Given the description of an element on the screen output the (x, y) to click on. 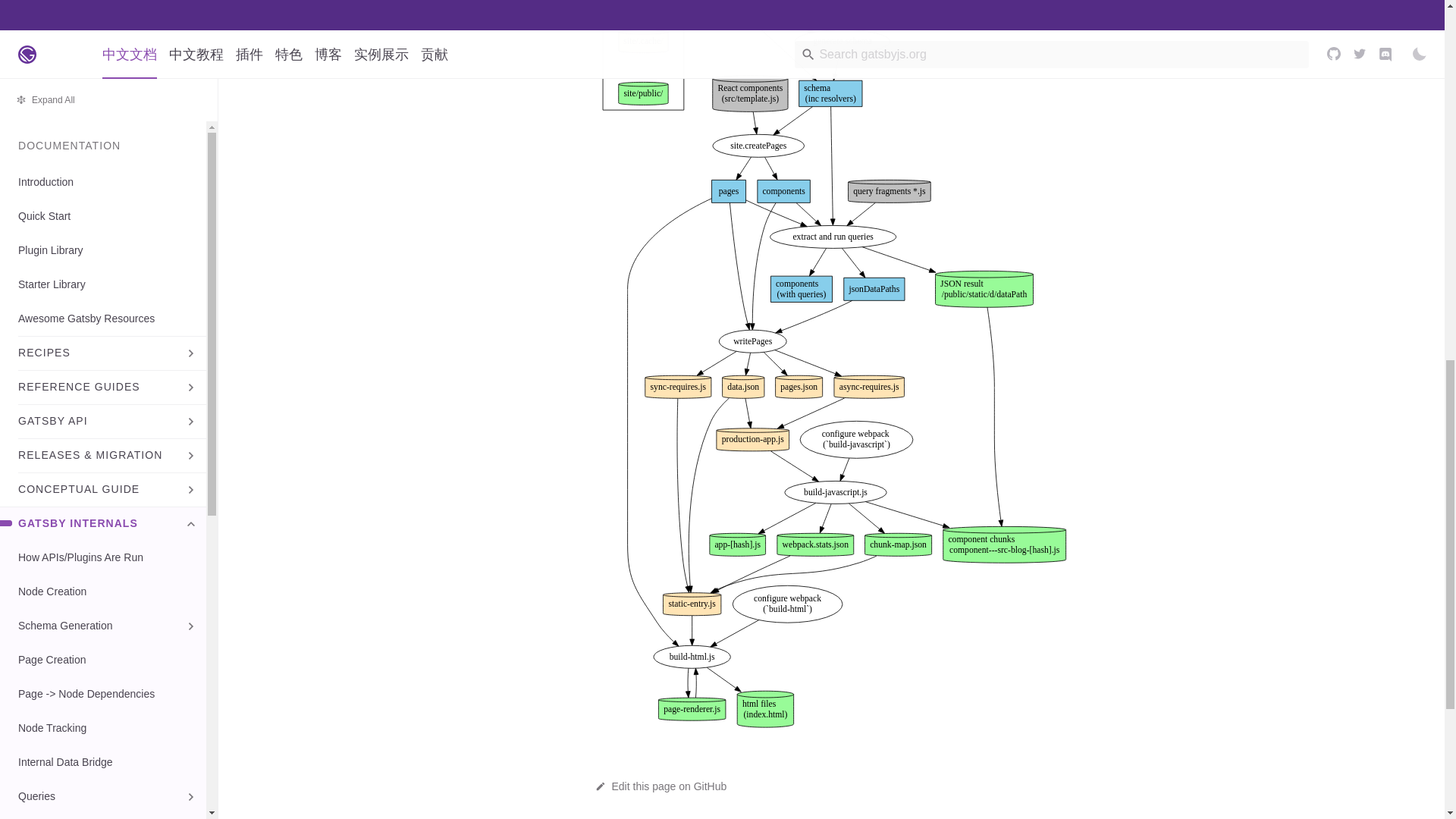
build-html.js (690, 656)
rootNodeMap (853, 3)
extract and run queries (832, 237)
touchedNodes (782, 3)
writePages (752, 341)
production-app.js (752, 439)
nodes (723, 3)
site.createPages (757, 146)
plugin resolvers (928, 3)
generate schema (841, 41)
